Given the description of an element on the screen output the (x, y) to click on. 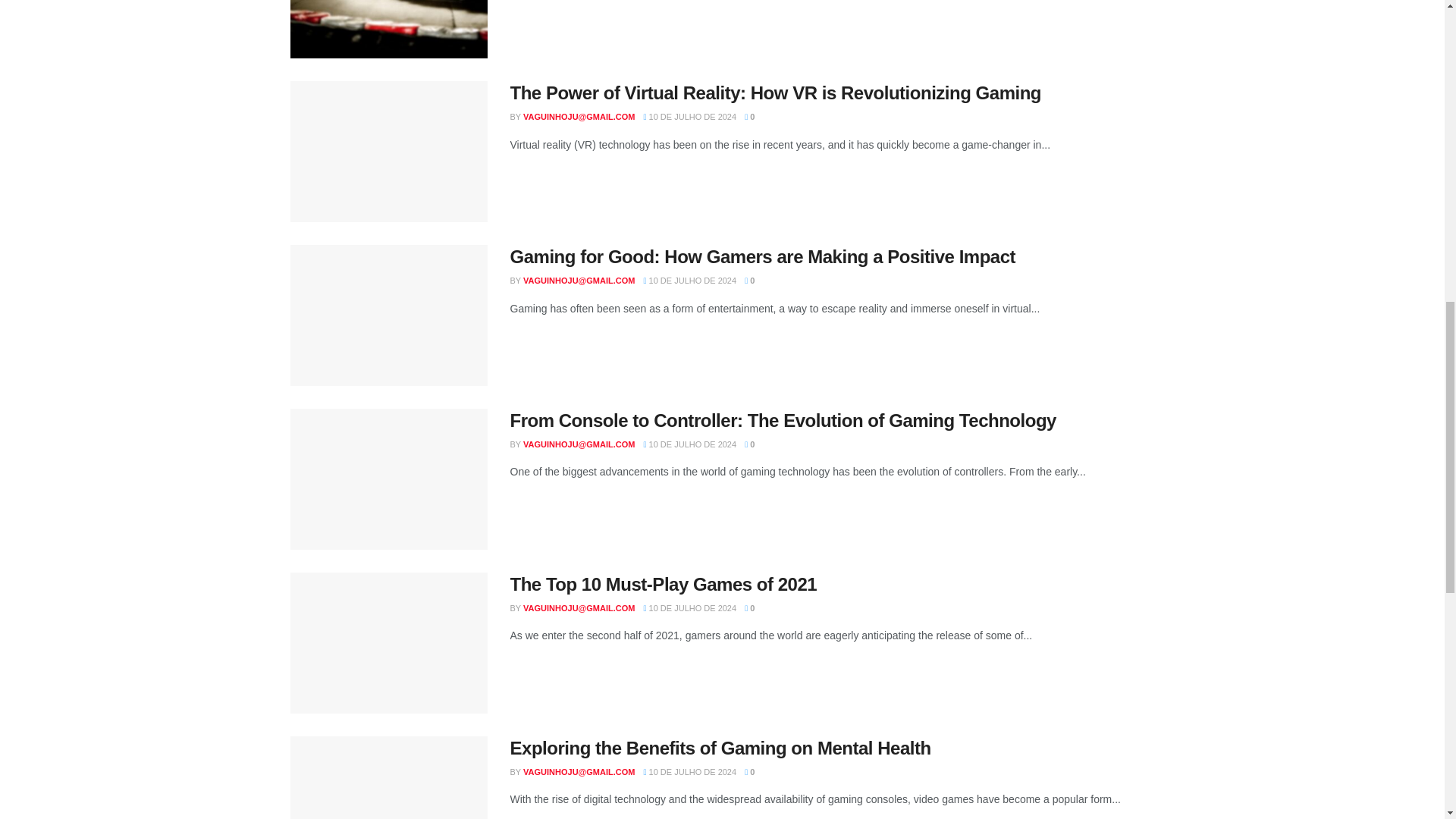
0 (749, 116)
10 DE JULHO DE 2024 (689, 116)
Gaming for Good: How Gamers are Making a Positive Impact (761, 256)
0 (749, 280)
10 DE JULHO DE 2024 (689, 280)
